Given the description of an element on the screen output the (x, y) to click on. 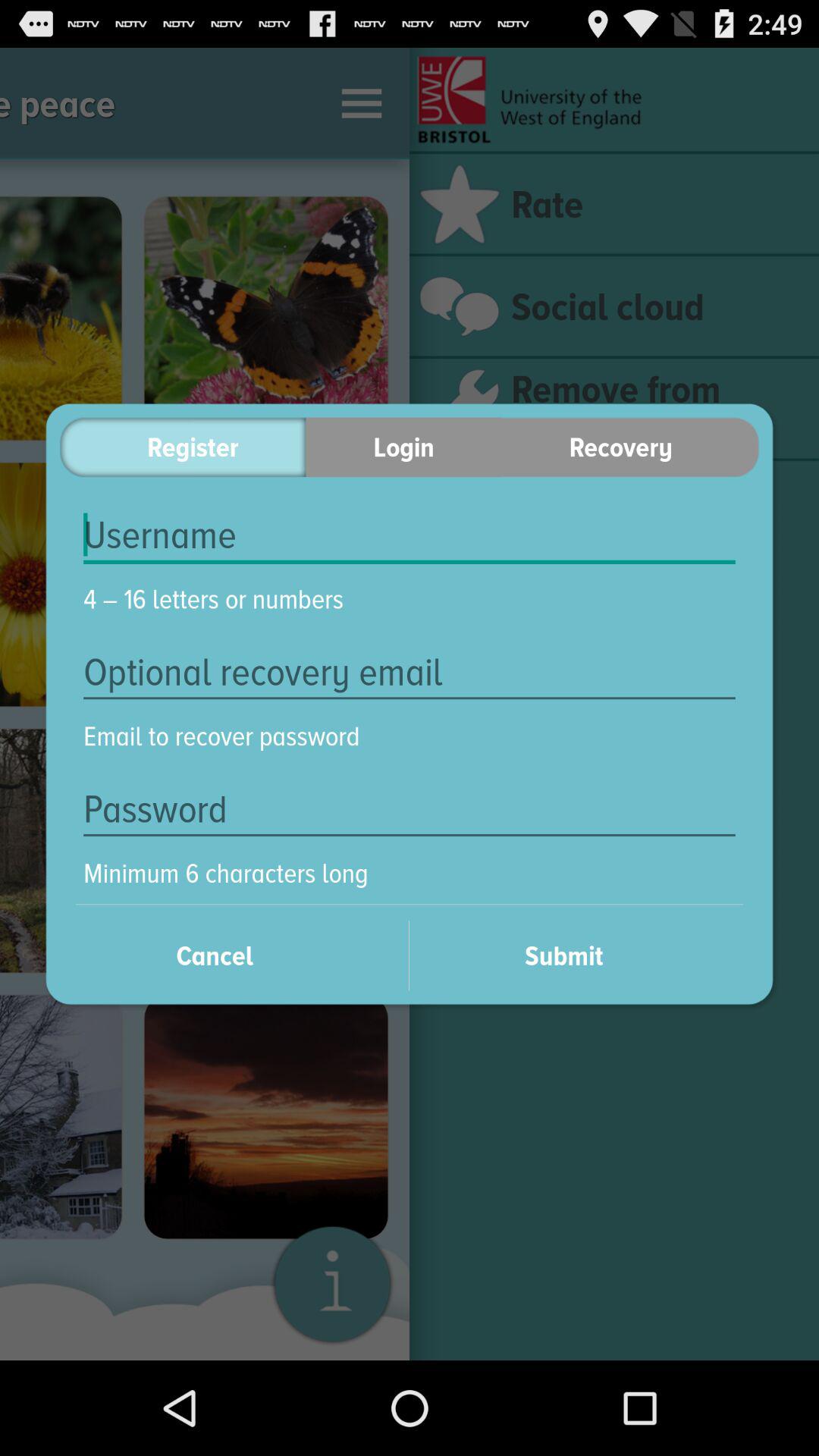
recovery email field (409, 672)
